Given the description of an element on the screen output the (x, y) to click on. 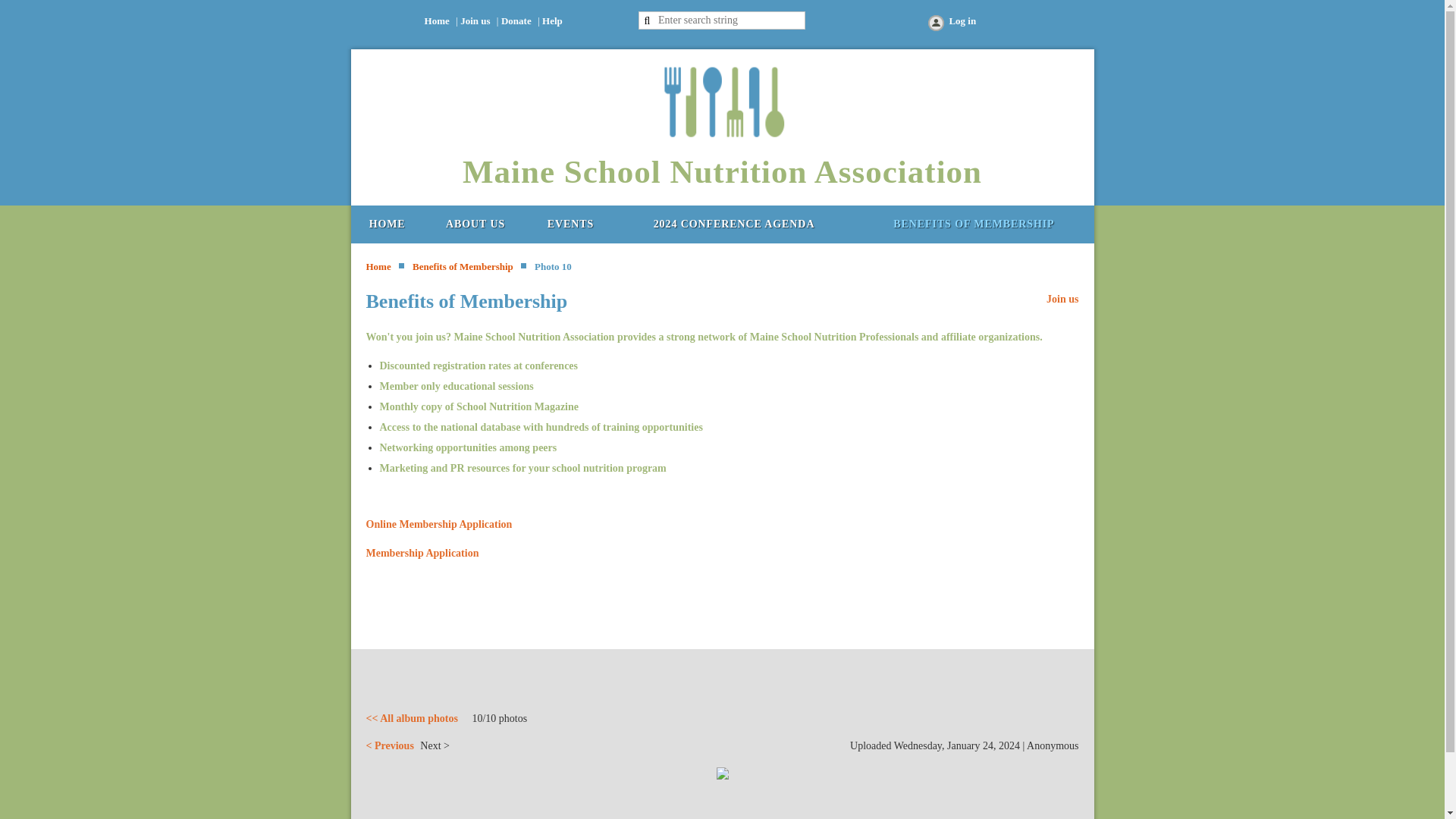
Benefits of Membership (973, 224)
Donate (515, 20)
Join us (474, 20)
BENEFITS OF MEMBERSHIP (973, 224)
EVENTS (569, 224)
Help (551, 20)
2024 CONFERENCE AGENDA (734, 224)
Log in (950, 24)
ABOUT US (475, 224)
Help (551, 20)
